Given the description of an element on the screen output the (x, y) to click on. 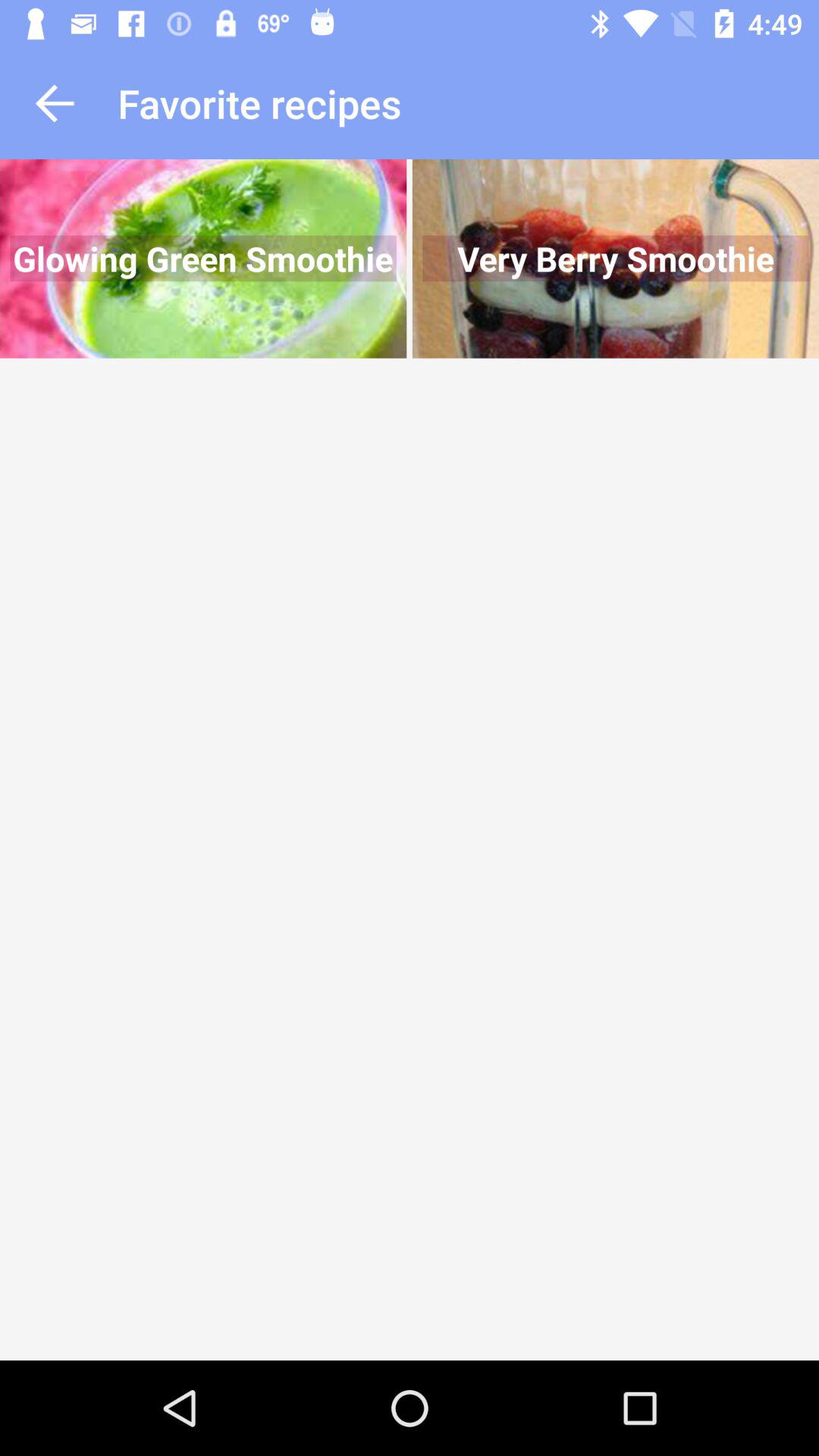
go back (54, 103)
